Given the description of an element on the screen output the (x, y) to click on. 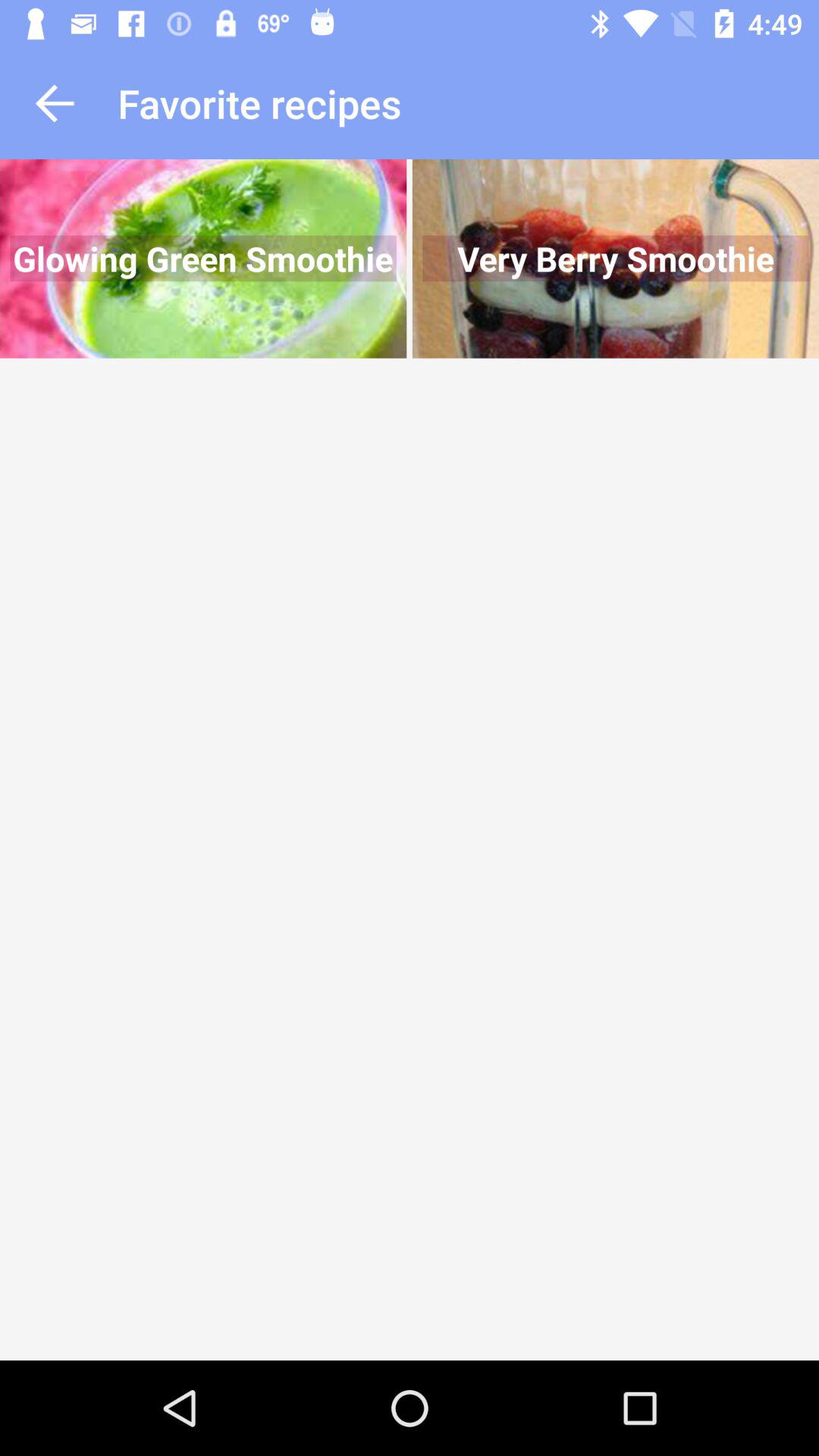
go back (54, 103)
